Given the description of an element on the screen output the (x, y) to click on. 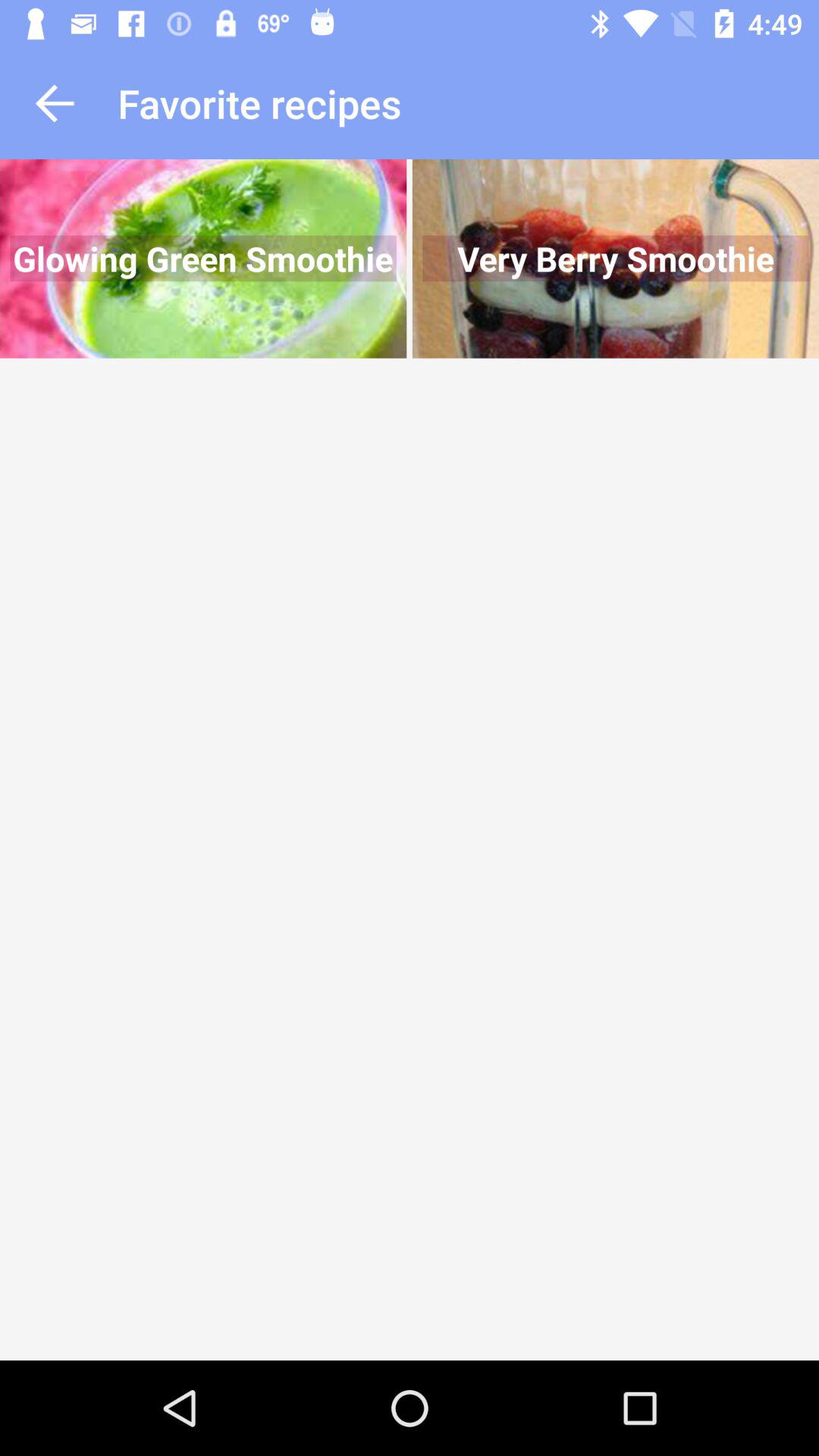
go back (54, 103)
